Given the description of an element on the screen output the (x, y) to click on. 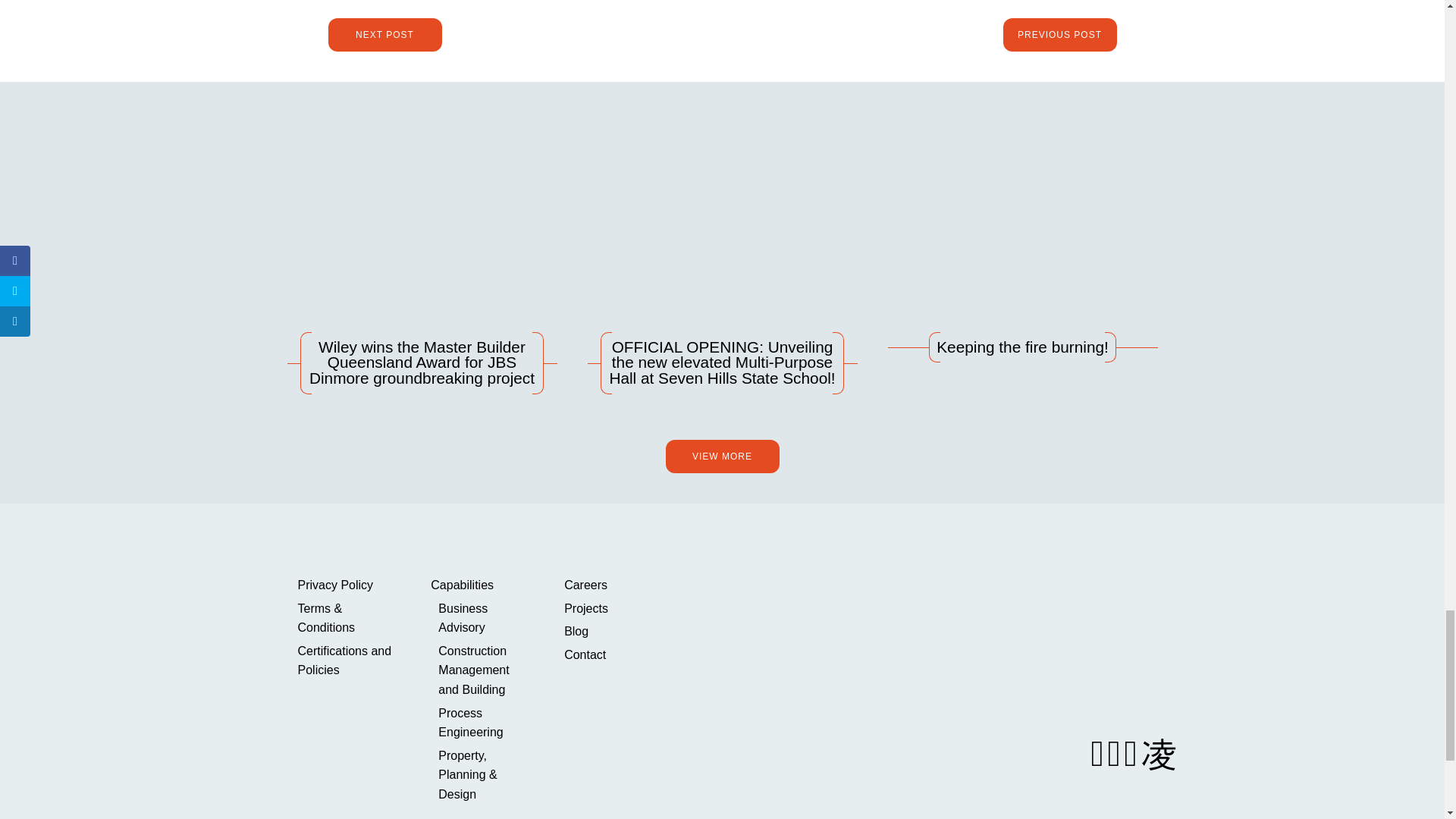
Blog (611, 631)
Certifications and Policies (345, 660)
Keeping the fire burning! (1021, 245)
Contact (611, 655)
Privacy Policy (345, 585)
Projects (611, 608)
Blog (611, 631)
Projects (611, 608)
Business Advisory (481, 618)
